Given the description of an element on the screen output the (x, y) to click on. 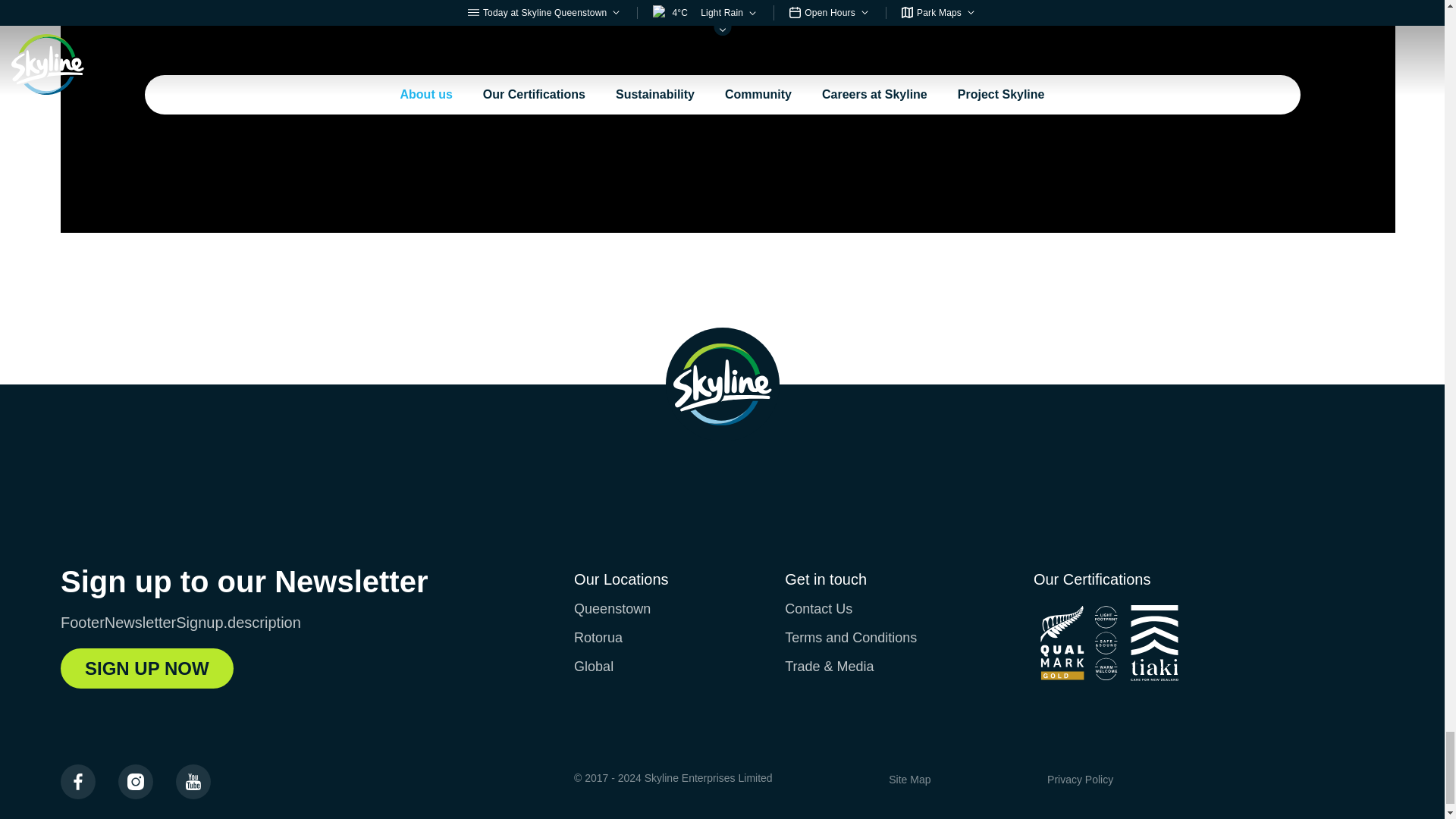
Site Map (909, 779)
SIGN UP NOW (146, 668)
Contact Us (817, 608)
Privacy Policy (1079, 779)
Rotorua (598, 637)
Global (592, 666)
Queenstown (611, 608)
Terms and Conditions (850, 637)
